Given the description of an element on the screen output the (x, y) to click on. 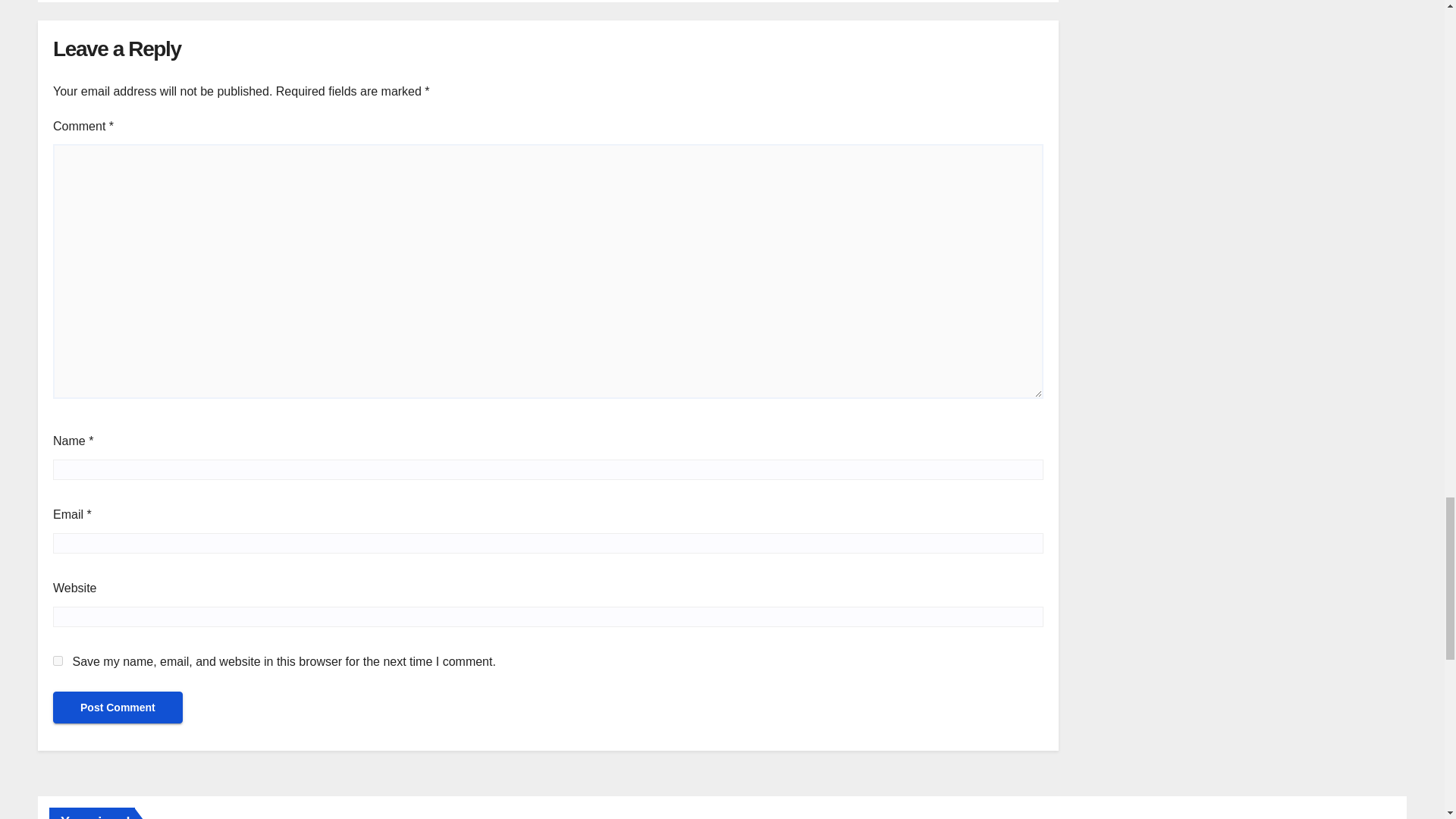
Post Comment (117, 707)
yes (57, 660)
